Given the description of an element on the screen output the (x, y) to click on. 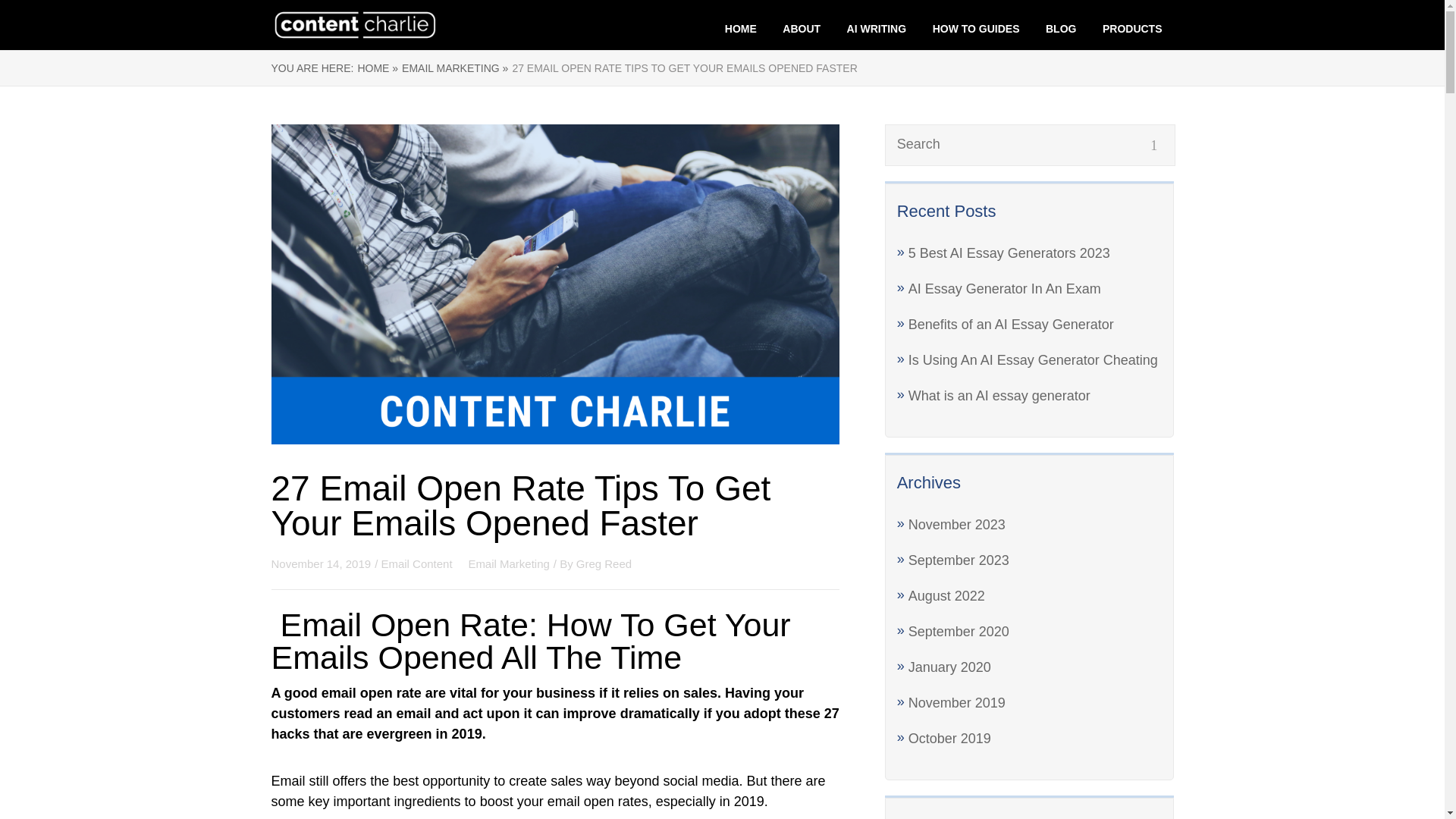
Benefits of an AI Essay Generator (1010, 324)
AI WRITING (877, 28)
AI Essay Generator In An Exam (1004, 288)
January 2020 (949, 667)
October 2019 (949, 738)
September 2020 (958, 631)
Is Using An AI Essay Generator Cheating (1032, 359)
November 2023 (957, 524)
HOW TO GUIDES (976, 28)
ABOUT (802, 28)
September 2023 (958, 560)
5 Best AI Essay Generators 2023 (1008, 253)
What is an AI essay generator (999, 395)
August 2022 (946, 595)
PRODUCTS (1131, 28)
